Given the description of an element on the screen output the (x, y) to click on. 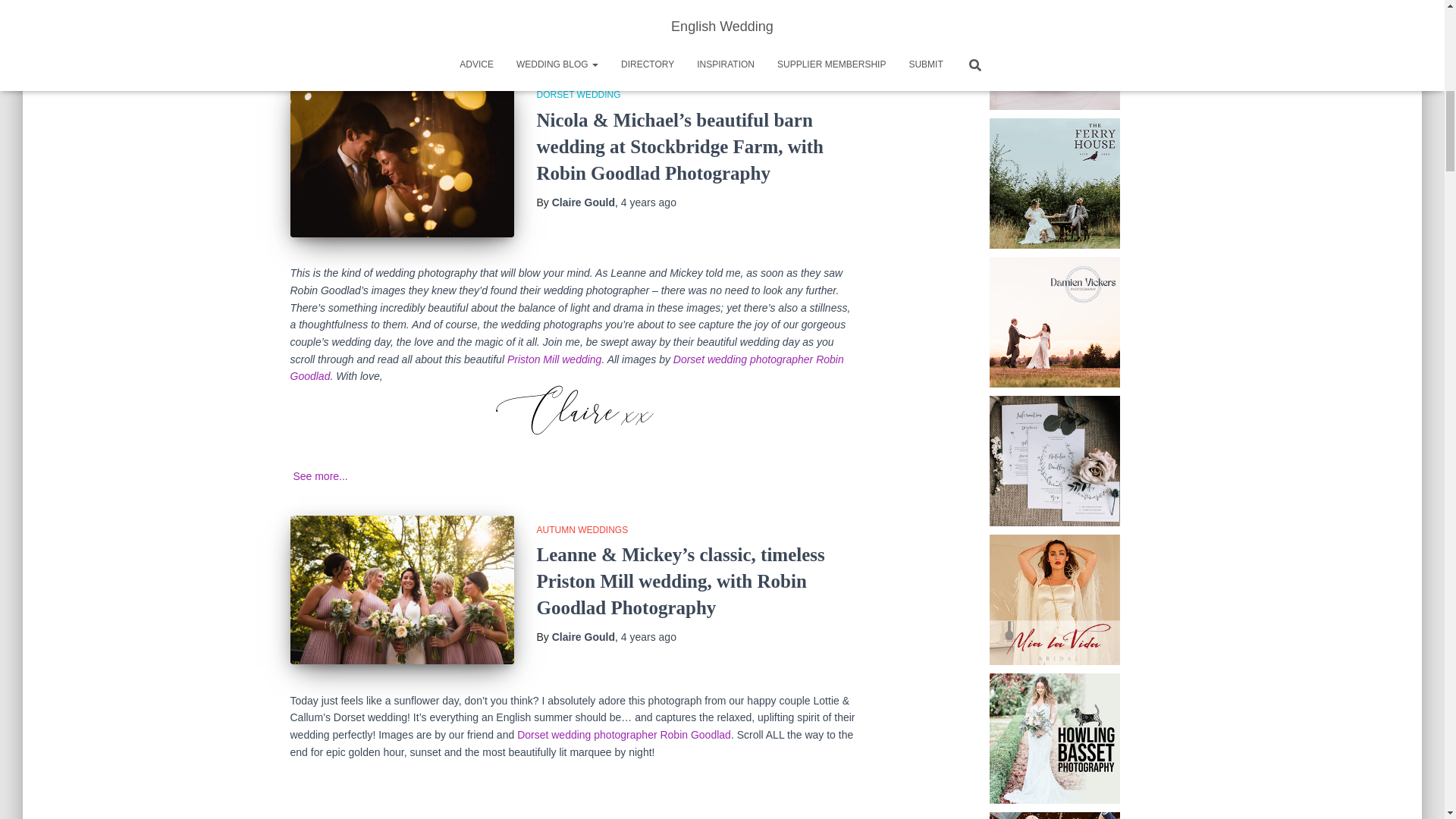
DORSET WEDDING (579, 94)
Sherborne Abbey wedding photographer Robin Goodlad (421, 6)
4 years ago (649, 202)
See more... (829, 41)
Priston Mill wedding (554, 358)
See more... (319, 476)
Claire Gould (582, 202)
Dorset wedding photographer Robin Goodlad (566, 367)
